Given the description of an element on the screen output the (x, y) to click on. 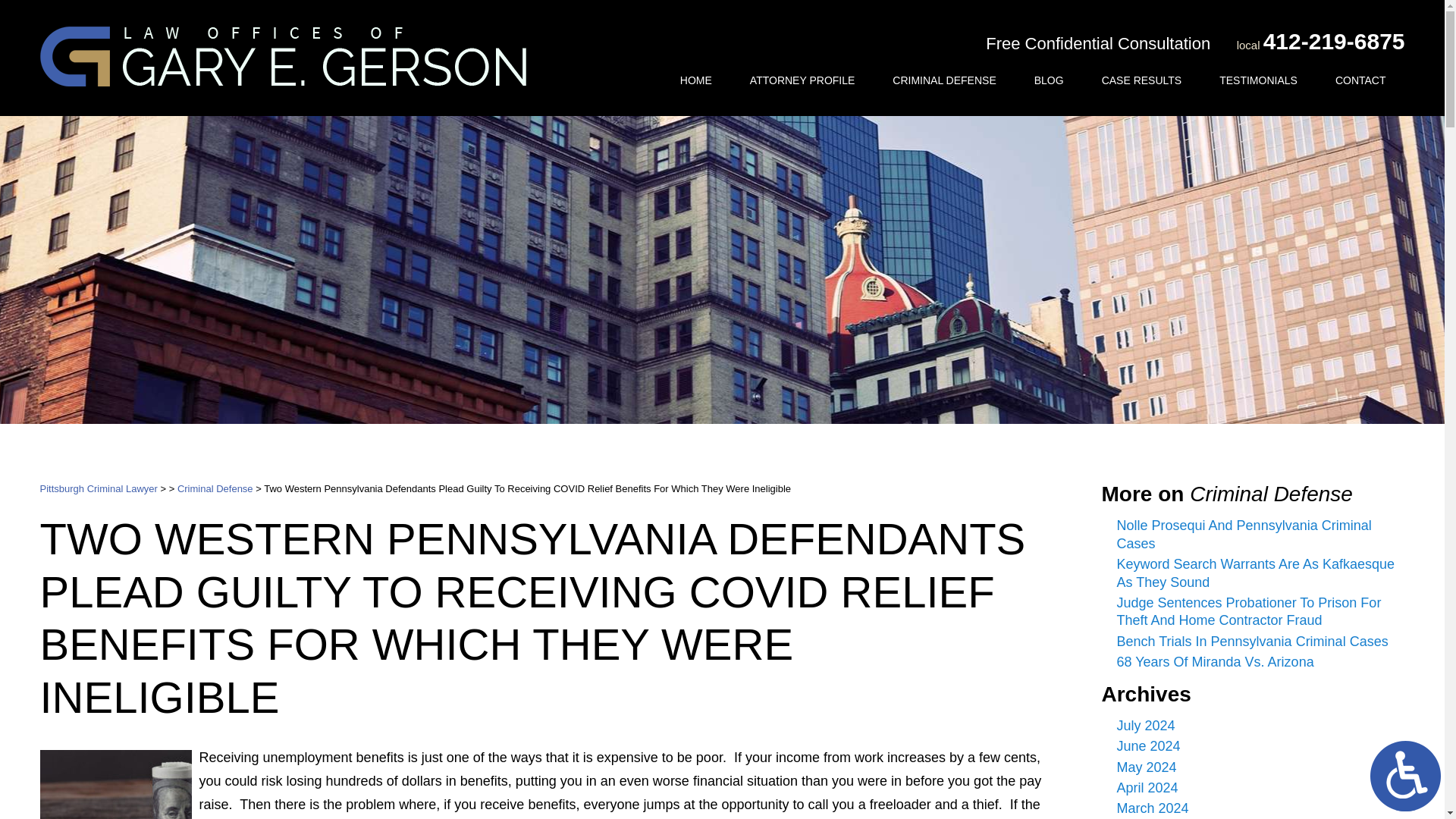
CRIMINAL DEFENSE (943, 80)
CASE RESULTS (1142, 80)
412-219-6875 (1334, 41)
TESTIMONIALS (1257, 80)
CONTACT (1360, 80)
BLOG (1048, 80)
ATTORNEY PROFILE (801, 80)
PPP (114, 784)
HOME (695, 80)
